Given the description of an element on the screen output the (x, y) to click on. 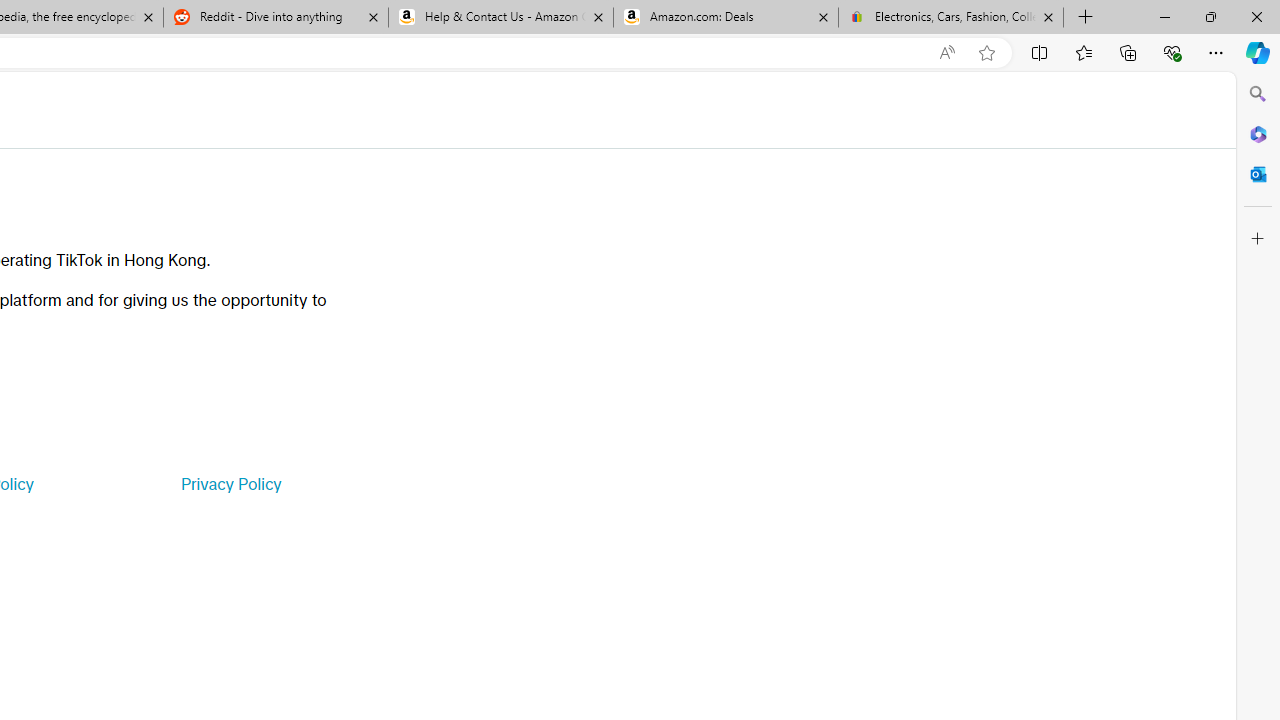
Electronics, Cars, Fashion, Collectibles & More | eBay (950, 17)
Privacy Policy (230, 484)
Help & Contact Us - Amazon Customer Service (501, 17)
Search (1258, 94)
Customize (1258, 239)
Amazon.com: Deals (726, 17)
